Given the description of an element on the screen output the (x, y) to click on. 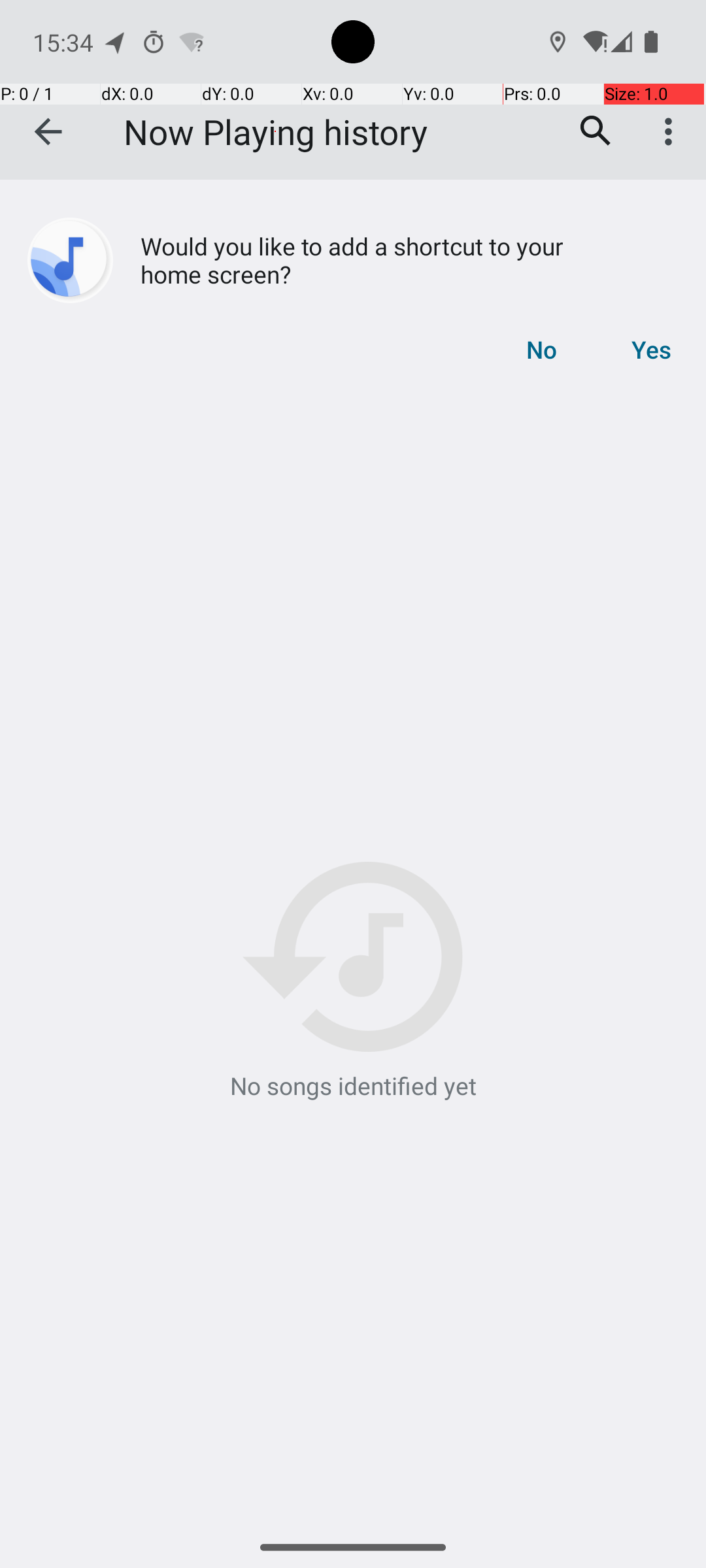
Now Playing history Element type: android.widget.TextView (275, 131)
Would you like to add a shortcut to your home screen? Element type: android.widget.TextView (302, 260)
No songs identified yet Element type: android.widget.TextView (353, 981)
